Given the description of an element on the screen output the (x, y) to click on. 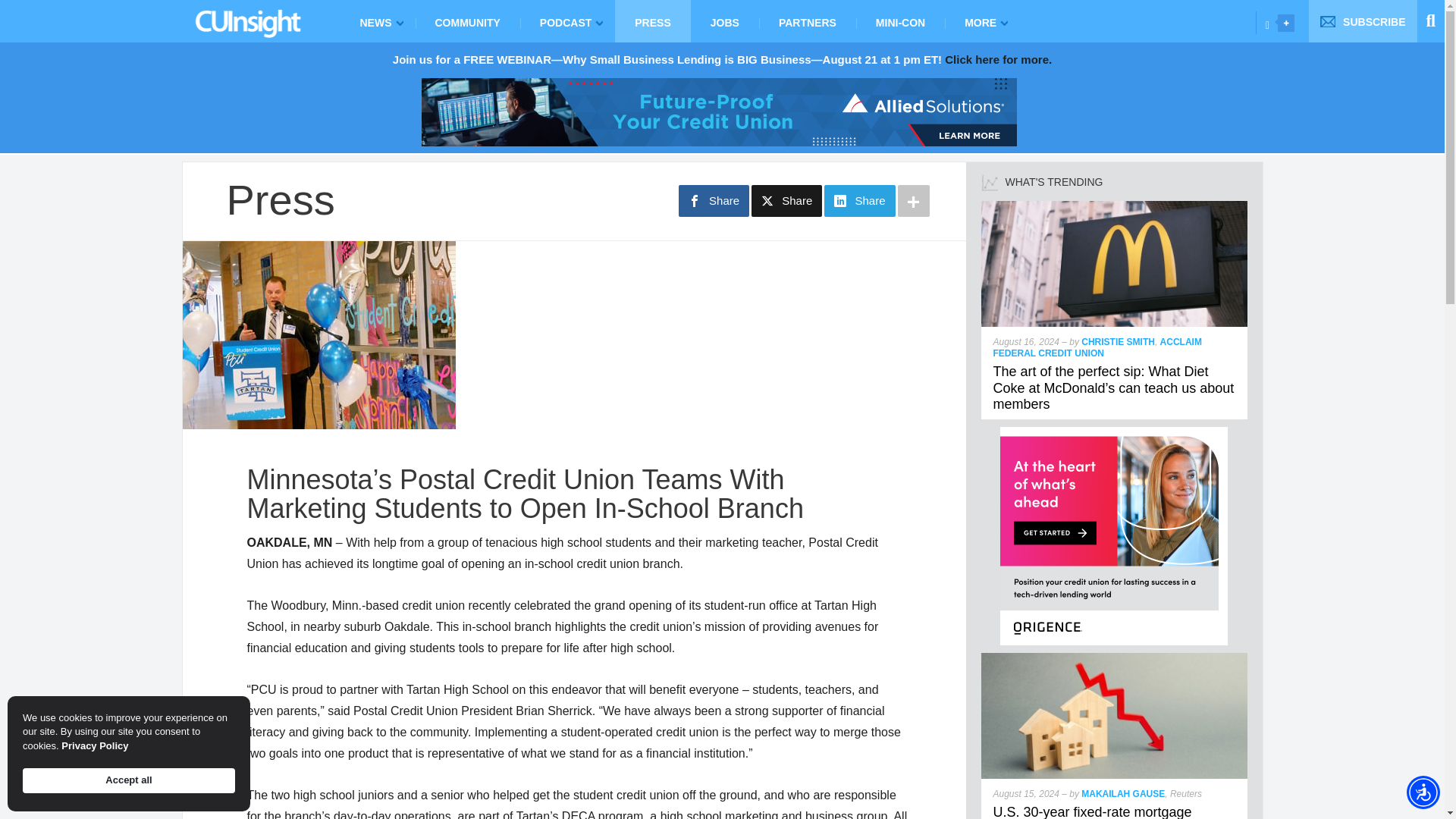
MINI-CON (900, 21)
PODCAST (566, 21)
Accessibility Menu (1422, 792)
JOBS (724, 21)
Share (713, 201)
PRESS (652, 21)
NEWS (376, 21)
Share (786, 201)
